Given the description of an element on the screen output the (x, y) to click on. 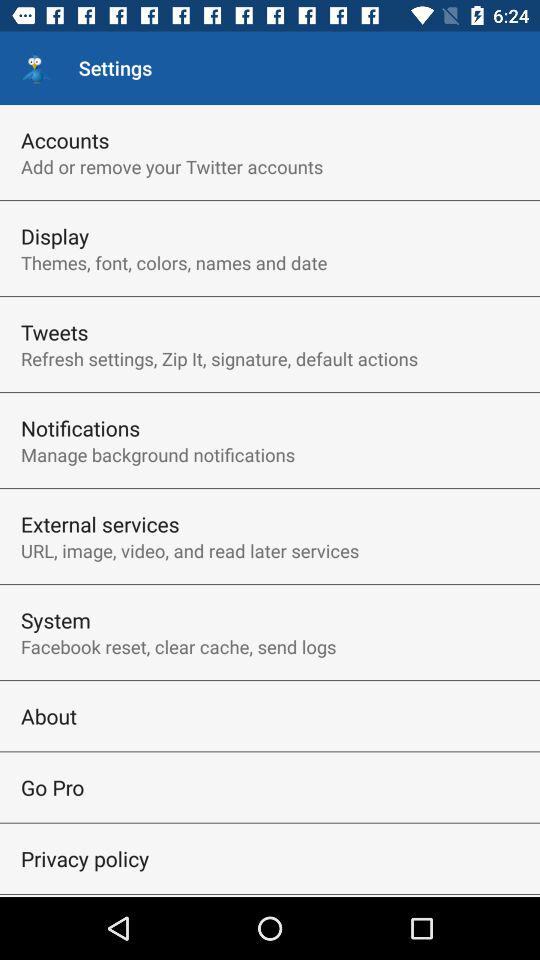
open item below system (178, 646)
